Given the description of an element on the screen output the (x, y) to click on. 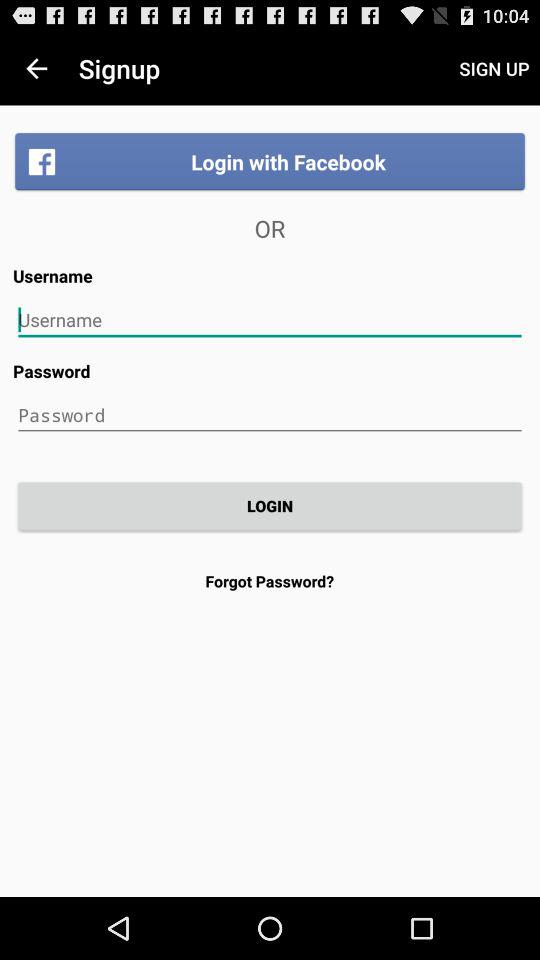
password input (269, 415)
